Given the description of an element on the screen output the (x, y) to click on. 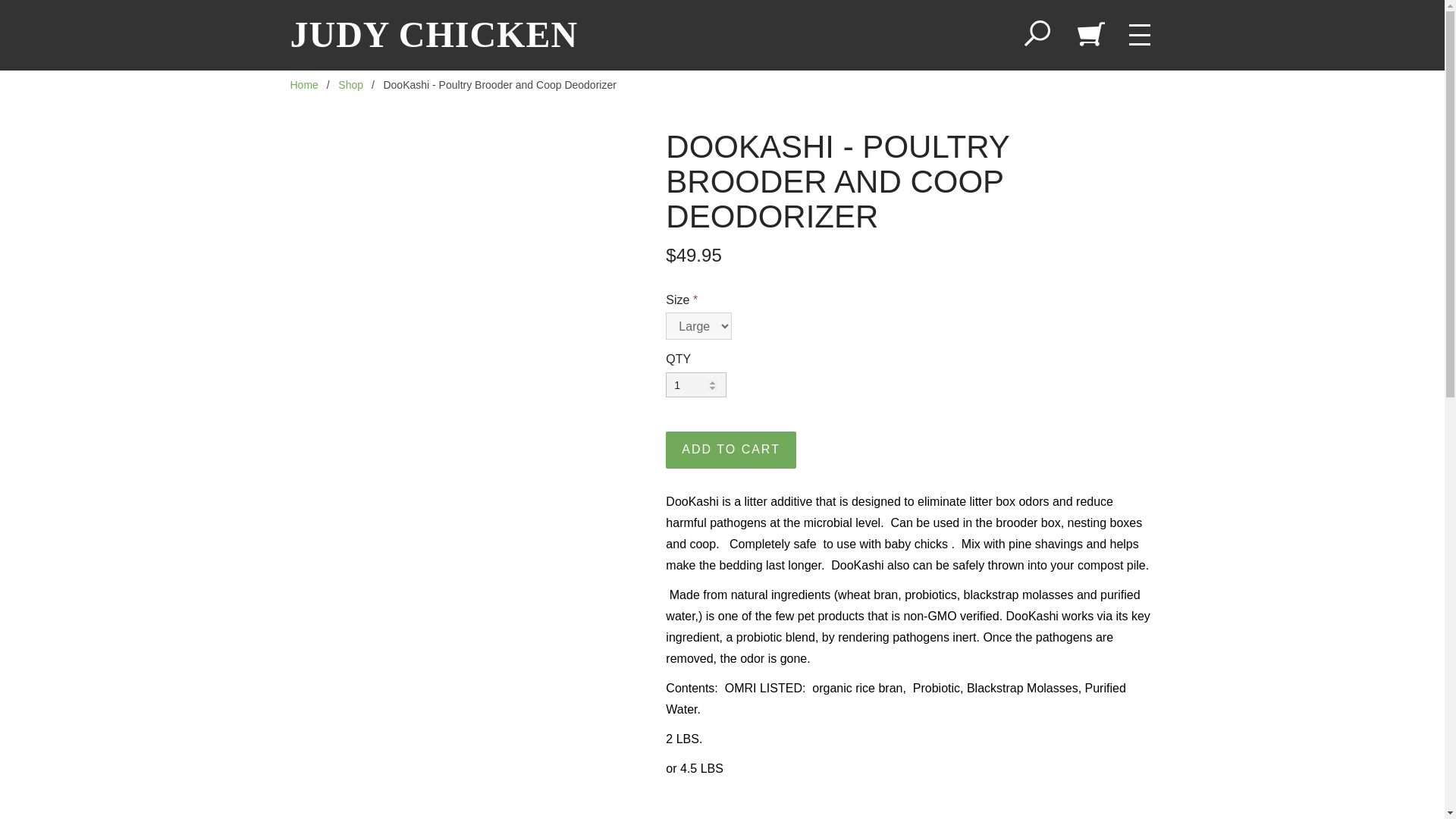
1 (695, 384)
Add to Cart (730, 449)
Shop (349, 84)
Add to Cart (730, 449)
JUDY CHICKEN (433, 34)
Home (303, 84)
